Given the description of an element on the screen output the (x, y) to click on. 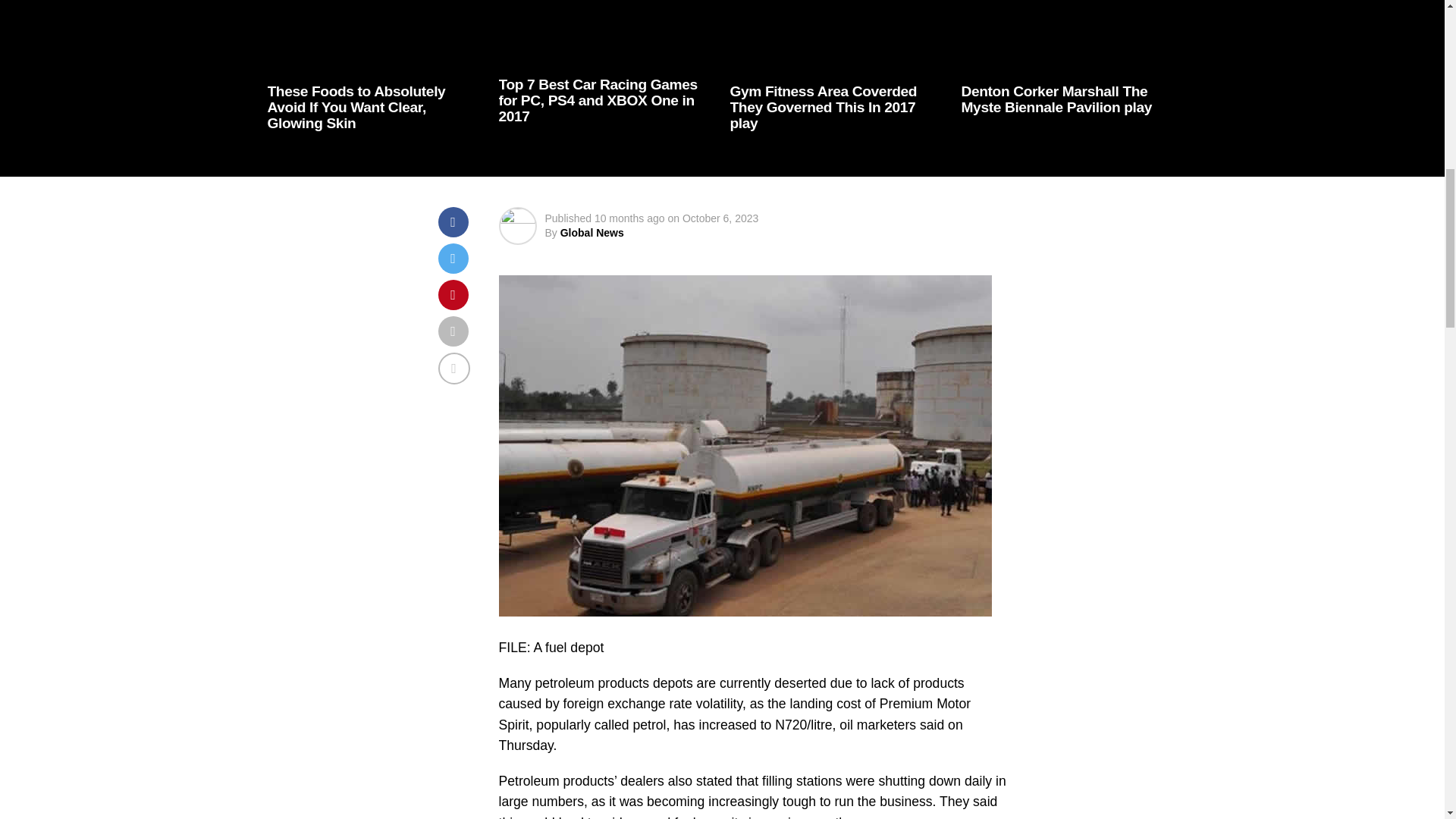
Posts by Global News (592, 232)
